Given the description of an element on the screen output the (x, y) to click on. 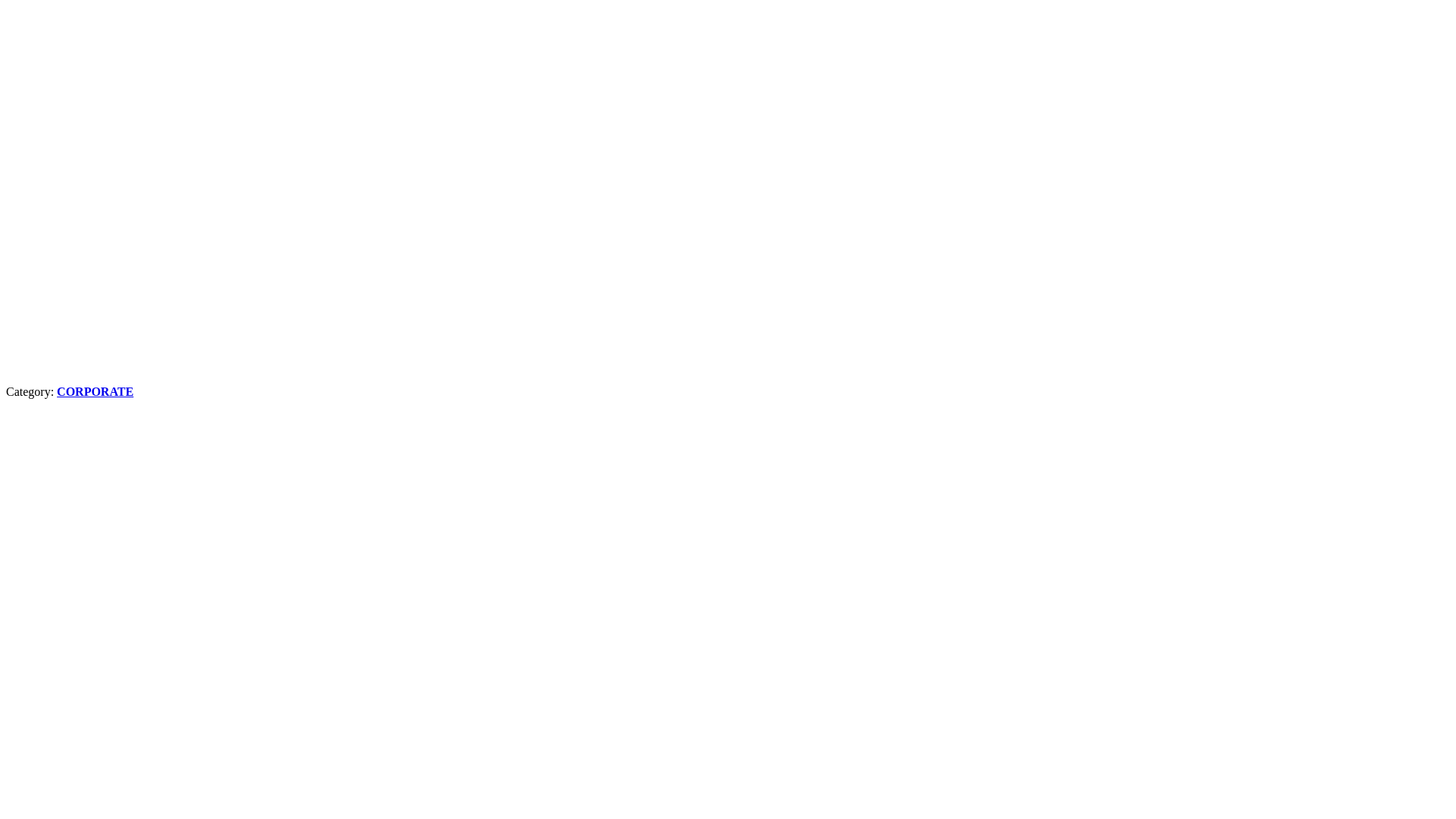
CORPORATE Element type: text (94, 391)
